Given the description of an element on the screen output the (x, y) to click on. 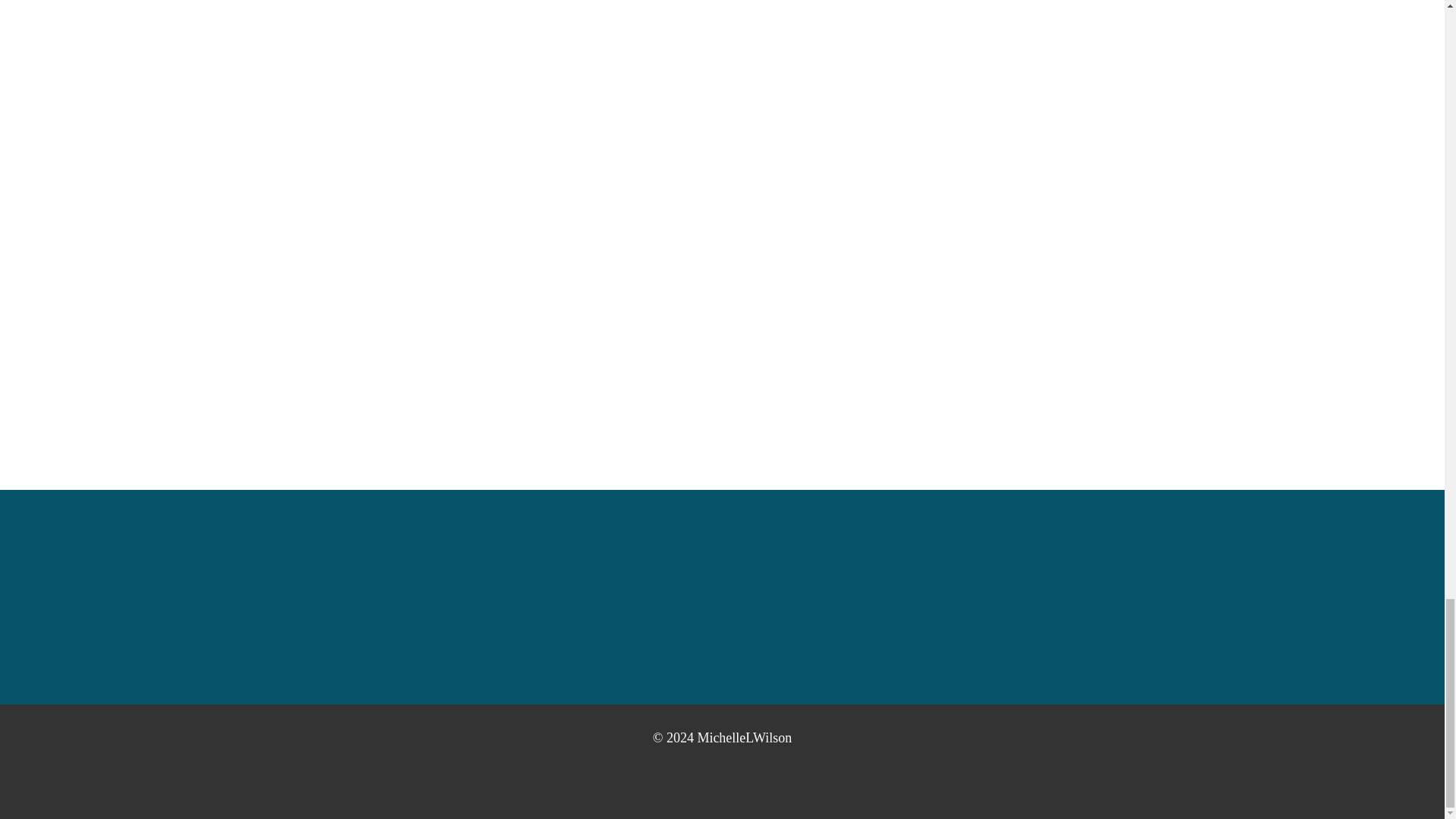
Powered by Kajabi (1158, 779)
